Given the description of an element on the screen output the (x, y) to click on. 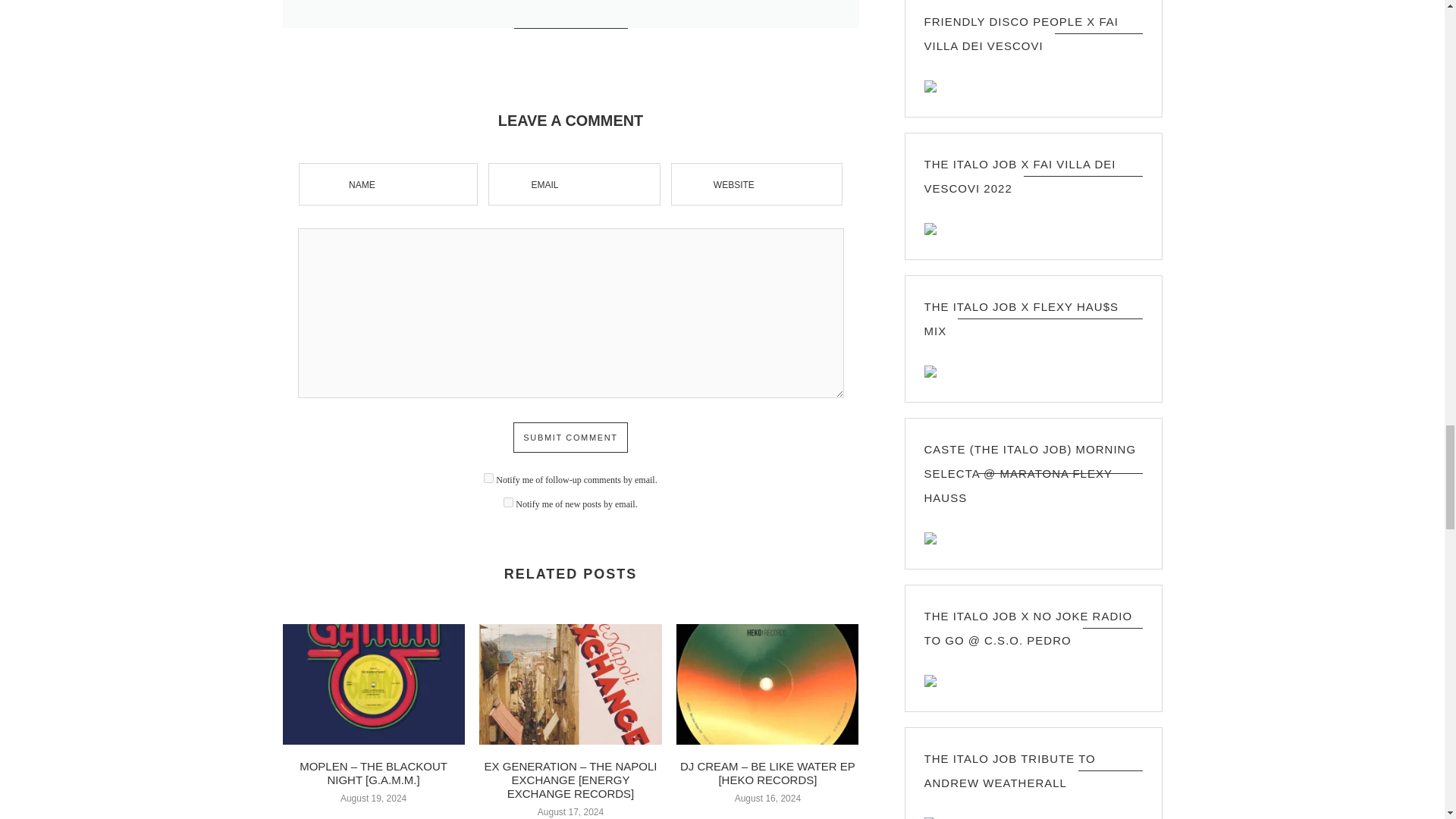
subscribe (508, 501)
subscribe (488, 478)
Submit Comment (570, 437)
